Given the description of an element on the screen output the (x, y) to click on. 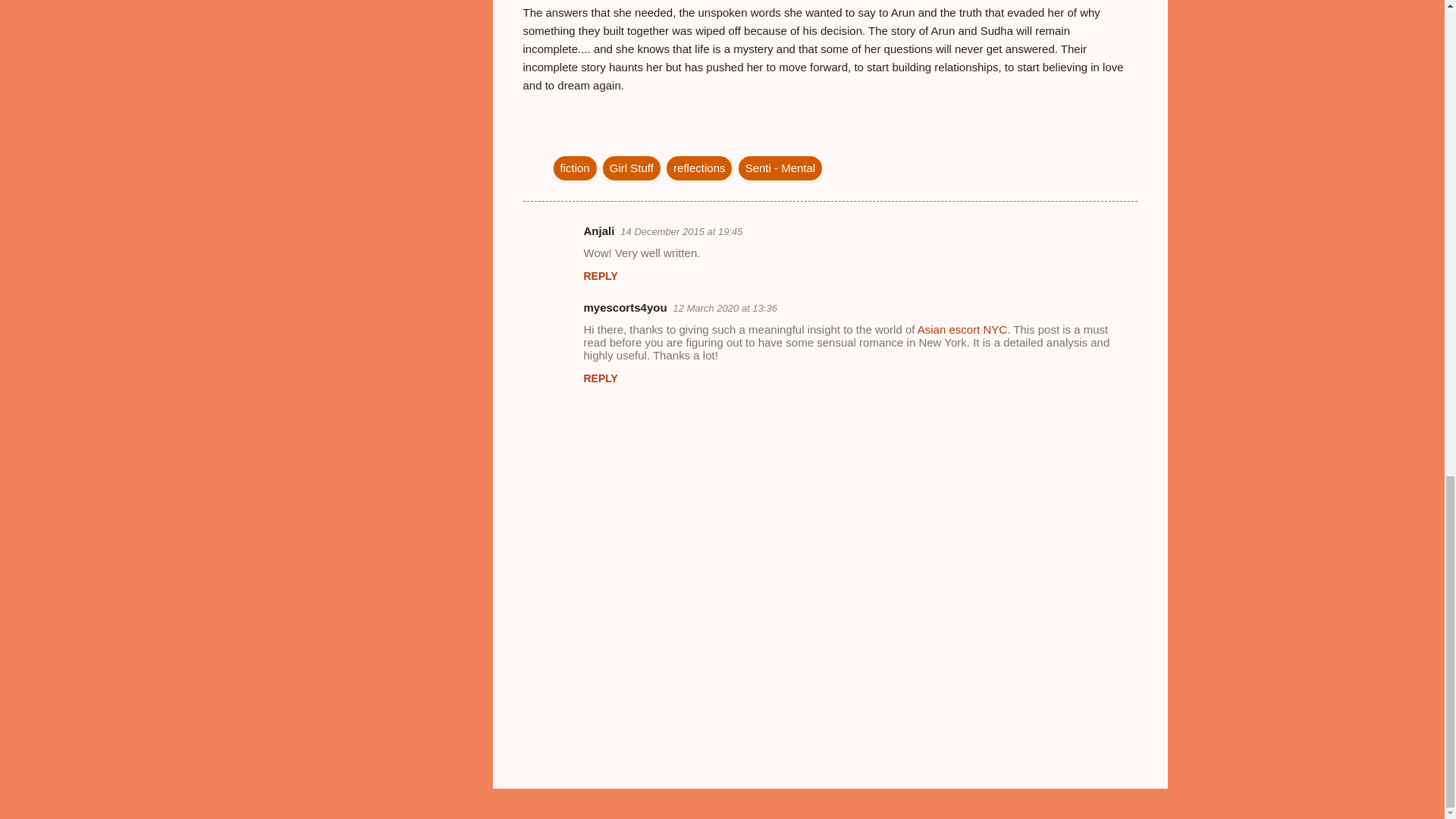
Email Post (562, 136)
fiction (574, 168)
Senti - Mental (780, 168)
reflections (699, 168)
Girl Stuff (631, 168)
Asian escort NYC (962, 328)
14 December 2015 at 19:45 (681, 231)
myescorts4you (624, 307)
REPLY (600, 275)
12 March 2020 at 13:36 (724, 307)
